Given the description of an element on the screen output the (x, y) to click on. 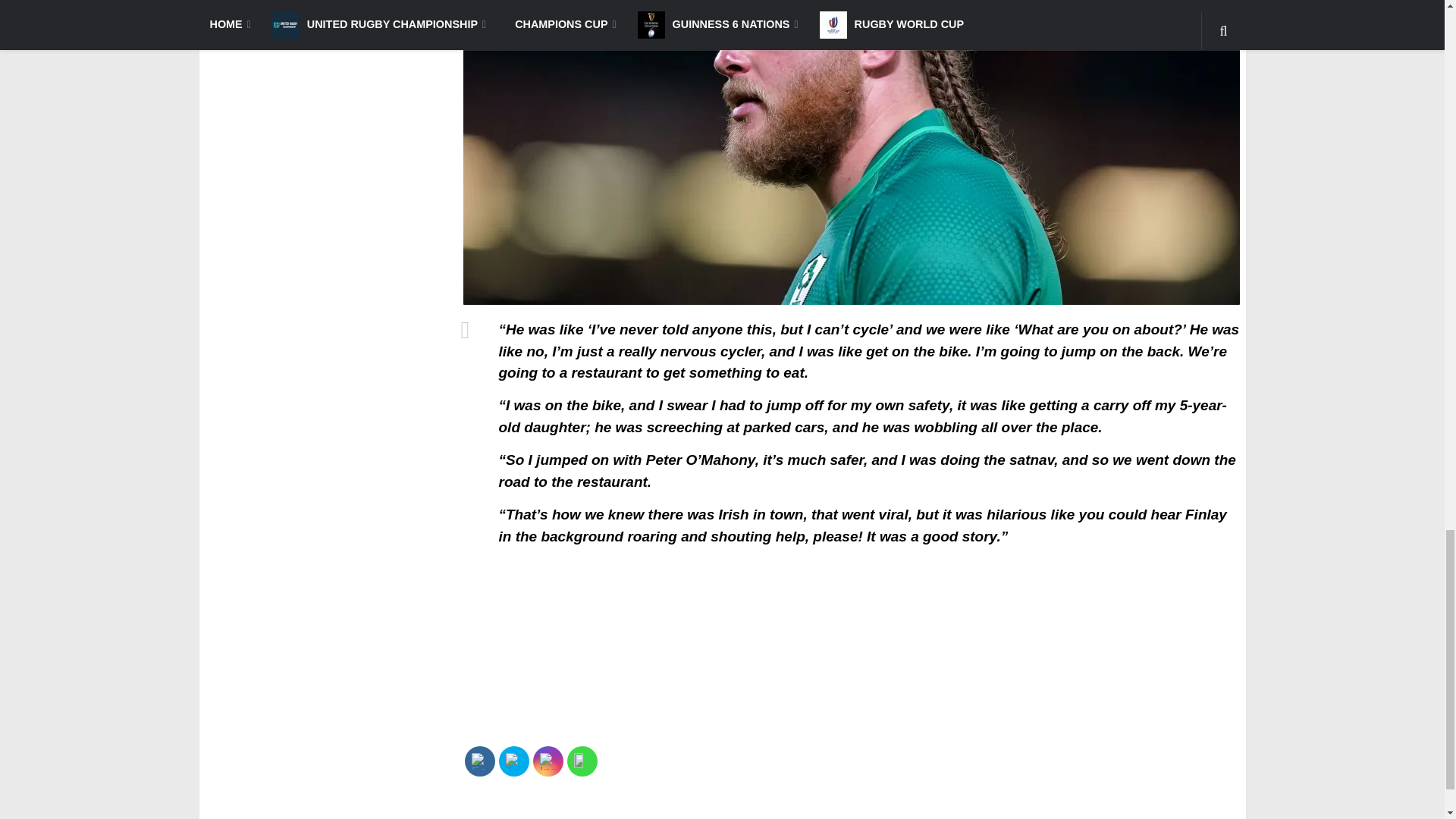
Facebook (479, 760)
Twitter (513, 760)
Instagram (548, 760)
